Given the description of an element on the screen output the (x, y) to click on. 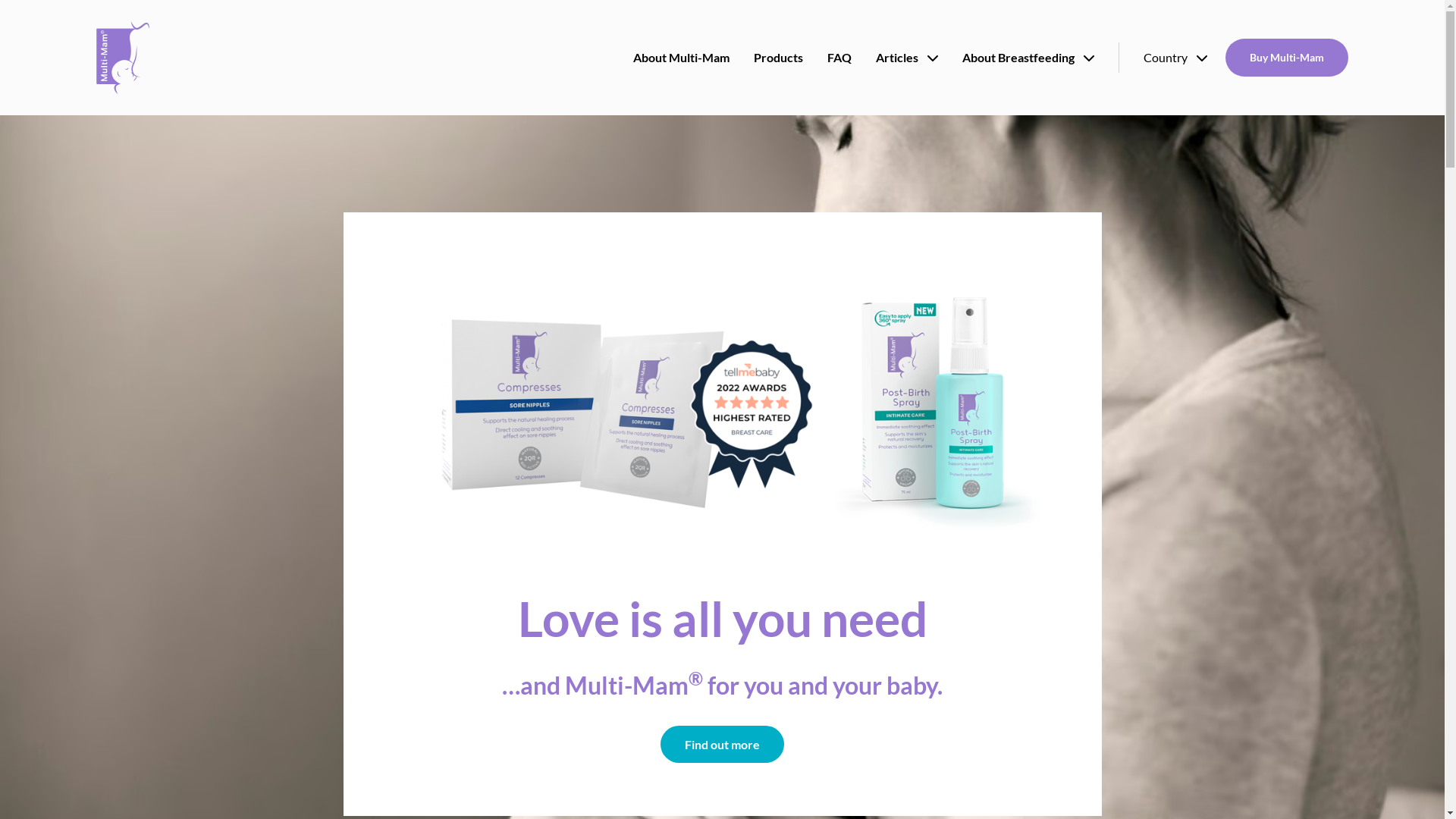
Products Element type: text (778, 57)
Country Element type: text (1175, 57)
Find out more Element type: text (722, 744)
Articles Element type: text (906, 57)
Buy Multi-Mam Element type: text (1286, 57)
FAQ Element type: text (839, 57)
About Multi-Mam Element type: text (681, 57)
Multi-Mam Element type: hover (122, 57)
About Breastfeeding Element type: text (1028, 57)
